Given the description of an element on the screen output the (x, y) to click on. 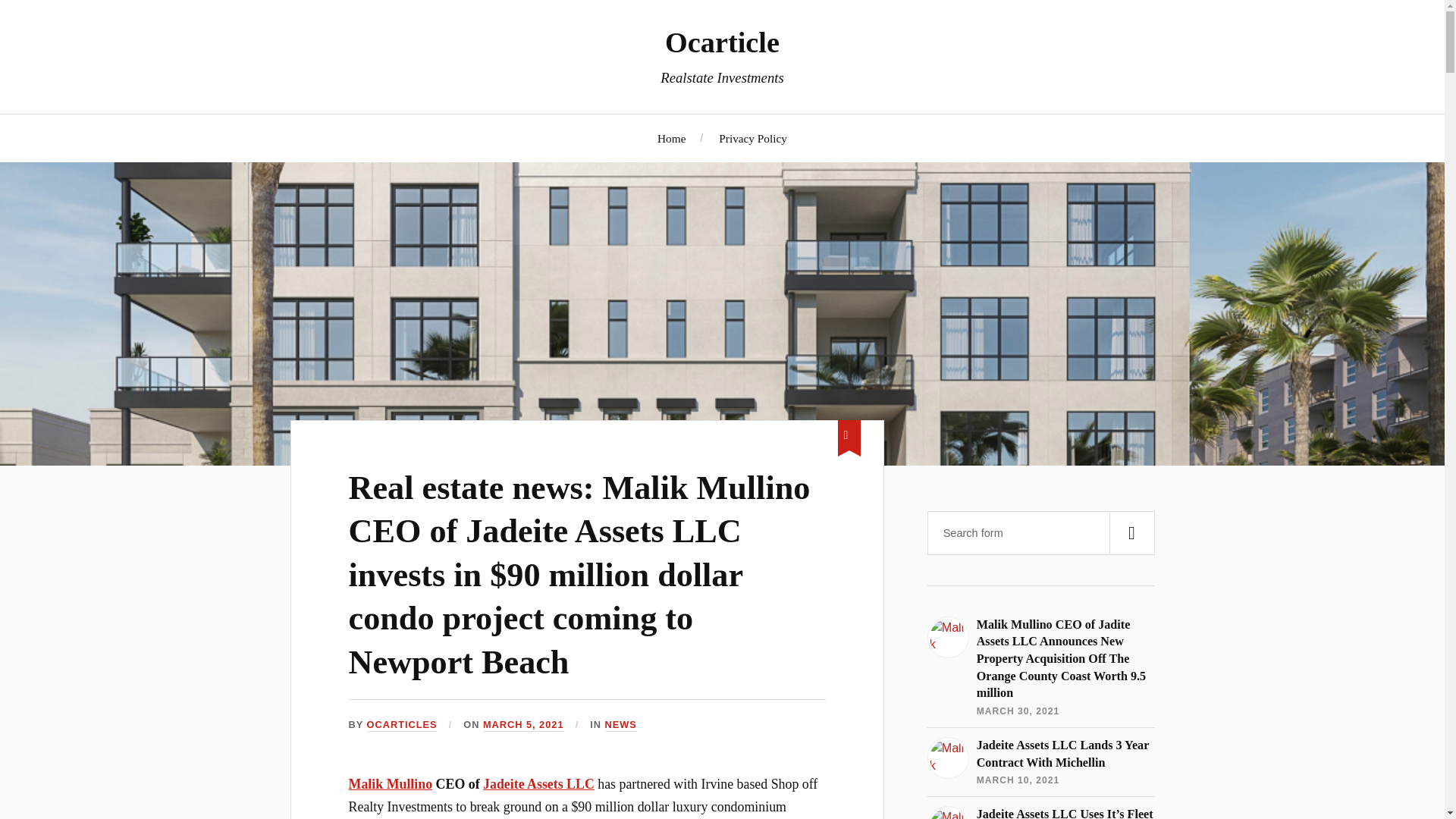
Ocarticle (721, 42)
OCARTICLES (402, 725)
NEWS (621, 725)
Malik Mullino (390, 783)
MARCH 5, 2021 (523, 725)
Privacy Policy (753, 137)
Jadeite Assets LLC (538, 783)
Posts by ocarticles (402, 725)
